Given the description of an element on the screen output the (x, y) to click on. 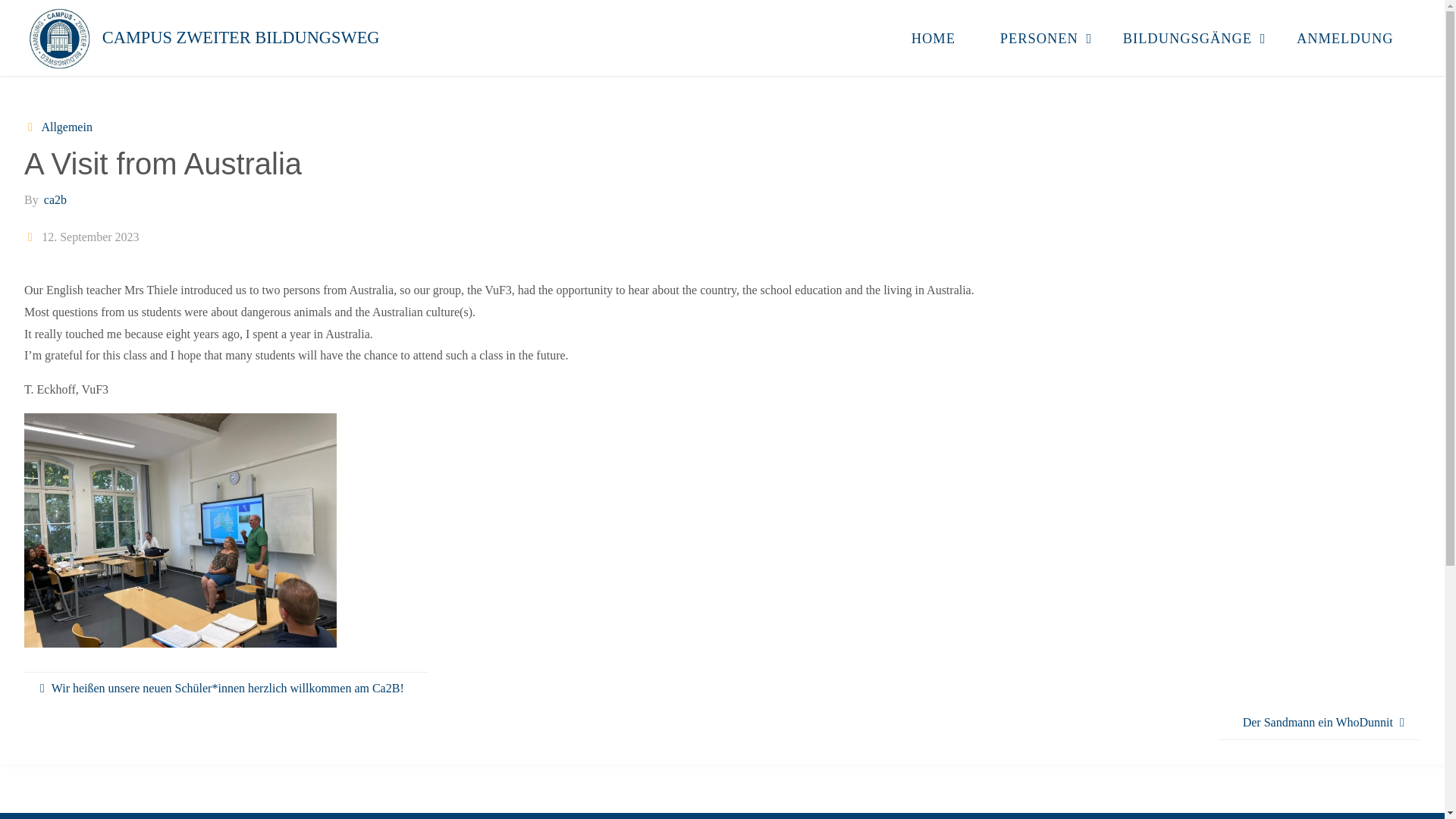
Categories (31, 126)
ANMELDUNG (1345, 38)
 Campus Zweiter Bildungsweg (59, 37)
ca2b (54, 199)
Der Sandmann ein WhoDunnit (1319, 722)
Allgemein (66, 126)
CAMPUS ZWEITER BILDUNGSWEG (240, 37)
PERSONEN (1038, 38)
Date (31, 236)
View all posts by ca2b (54, 199)
